Given the description of an element on the screen output the (x, y) to click on. 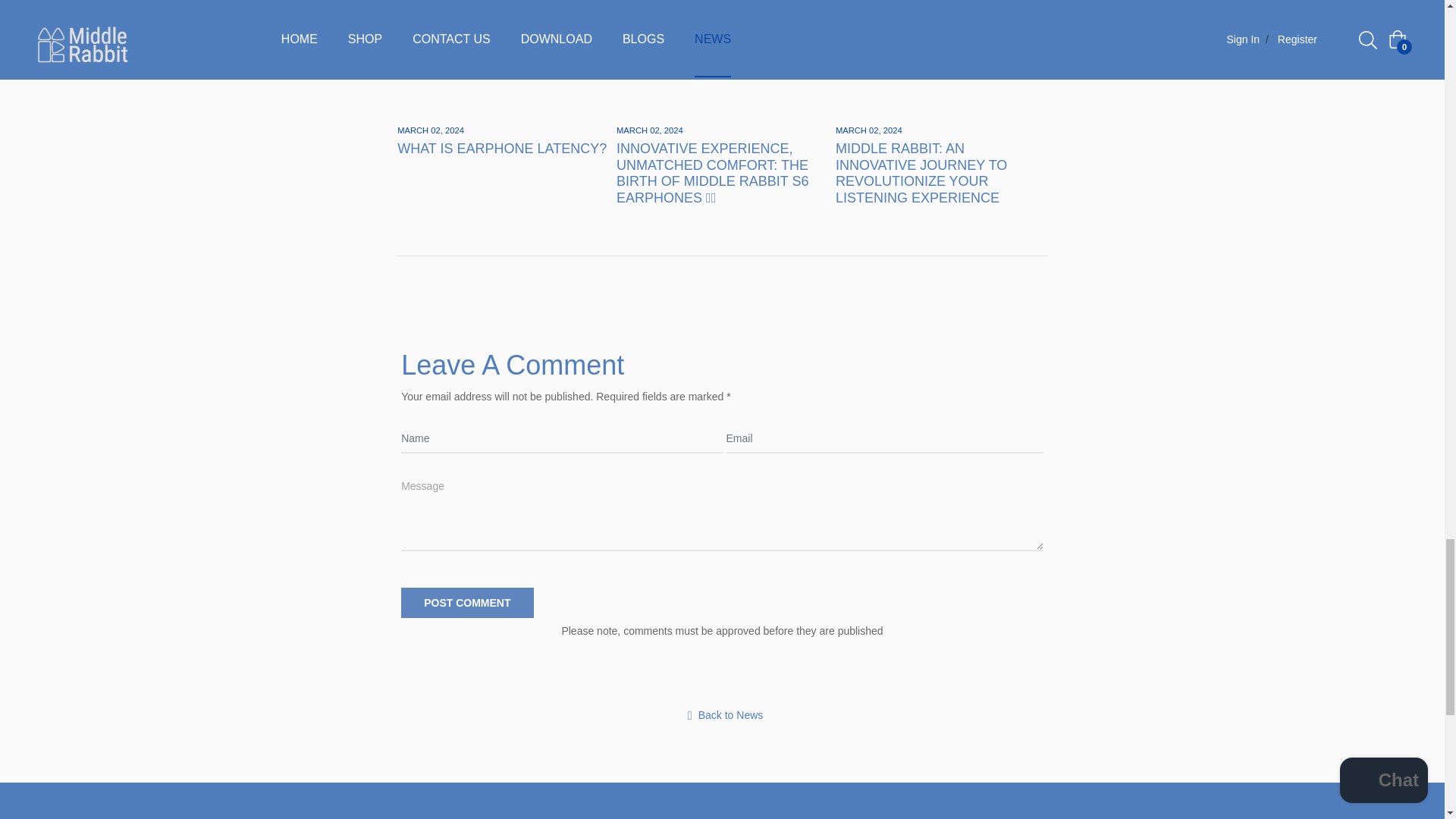
WHAT IS EARPHONE LATENCY? (502, 148)
Post comment (466, 603)
Post comment (466, 603)
Back to News (721, 715)
